Given the description of an element on the screen output the (x, y) to click on. 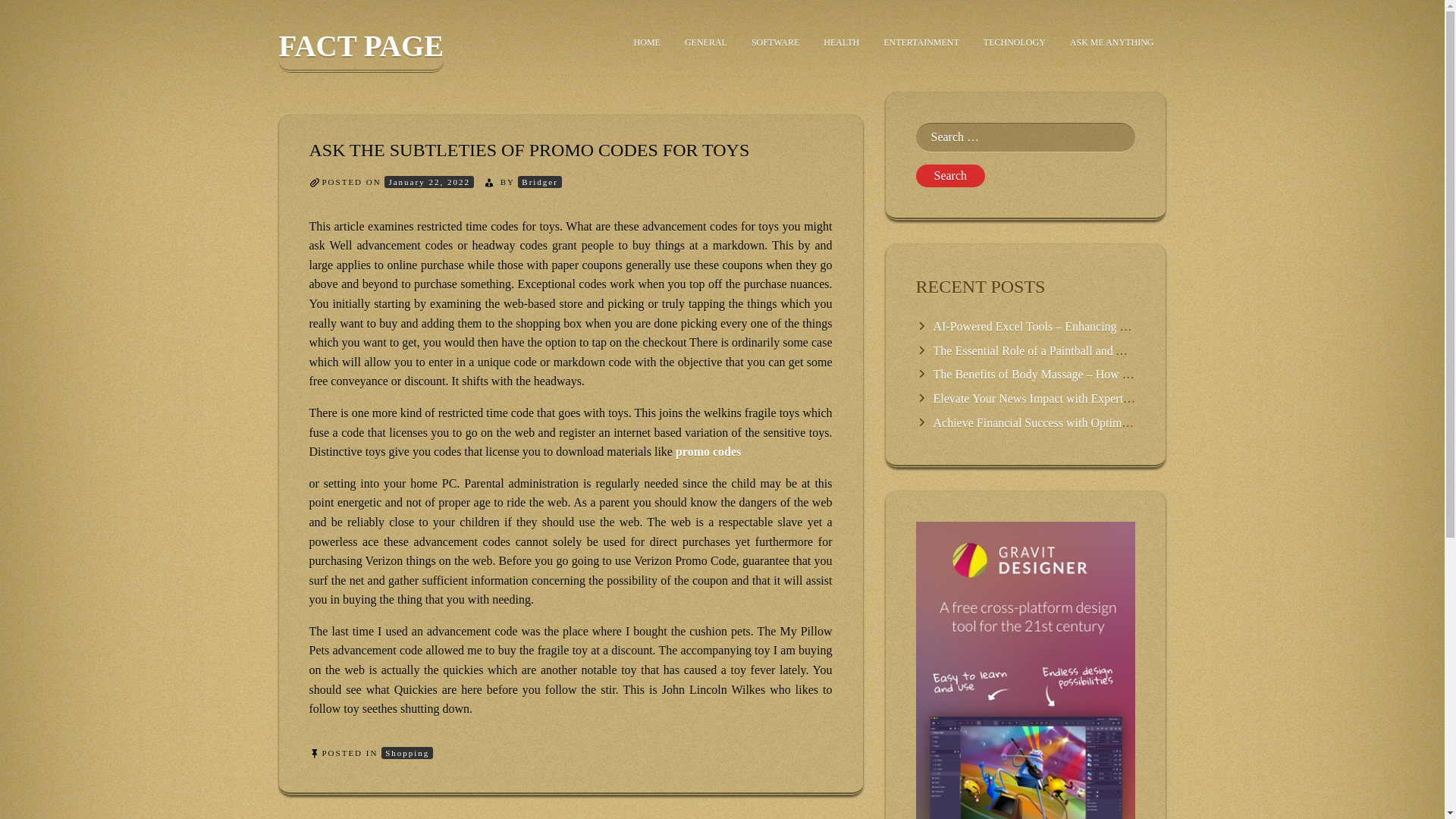
ENTERTAINMENT (920, 42)
Search (950, 175)
Shopping (406, 753)
Search (950, 175)
ASK ME ANYTHING (1112, 42)
promo codes (708, 451)
HEALTH (840, 42)
GENERAL (705, 42)
January 22, 2022 (428, 182)
